Given the description of an element on the screen output the (x, y) to click on. 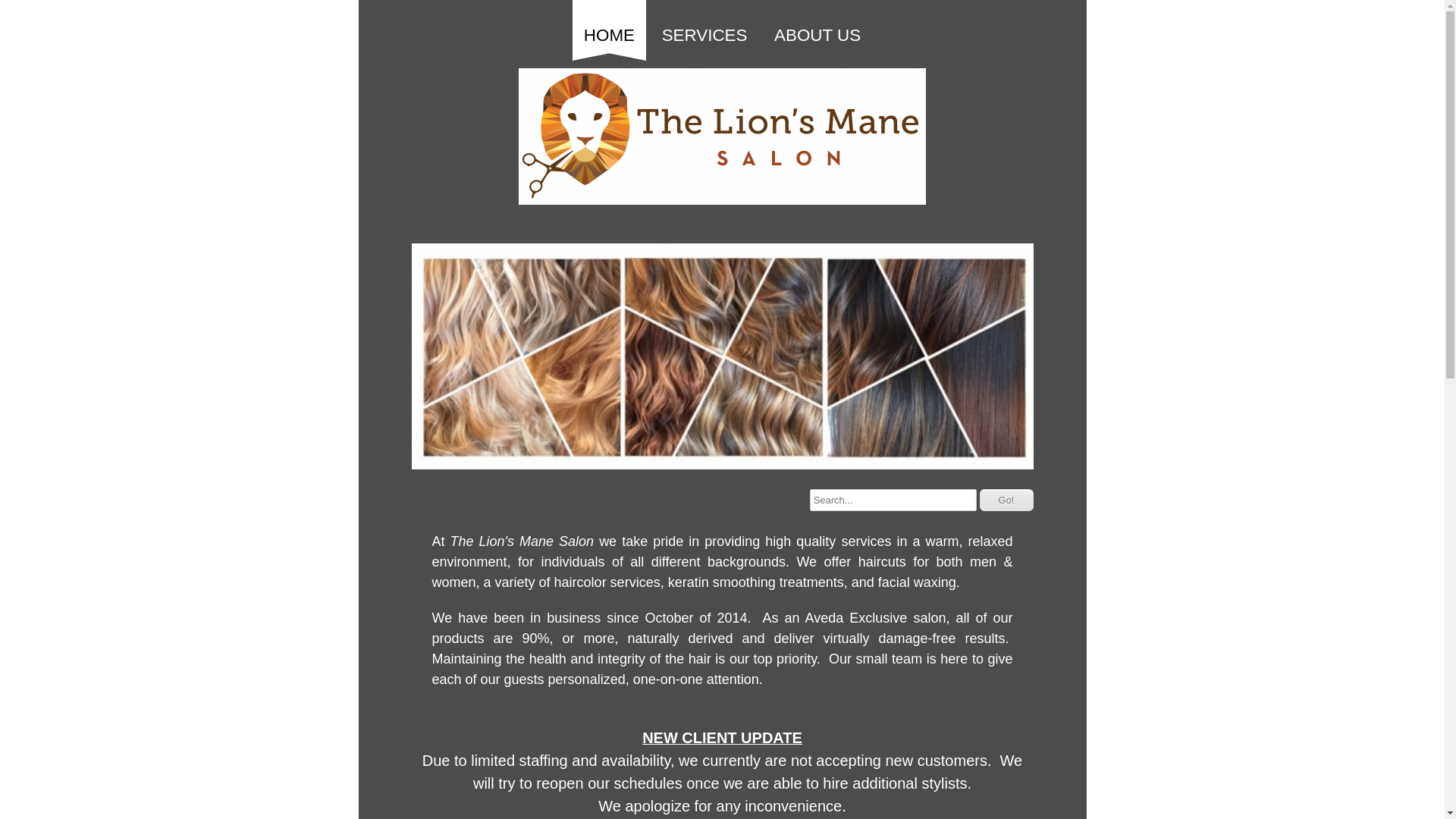
ABOUT US (817, 26)
About Us (817, 26)
Go! (1006, 499)
Services (704, 26)
Go! (1006, 499)
Go! (1006, 499)
HOME (609, 26)
SERVICES (704, 26)
Home (609, 26)
